Given the description of an element on the screen output the (x, y) to click on. 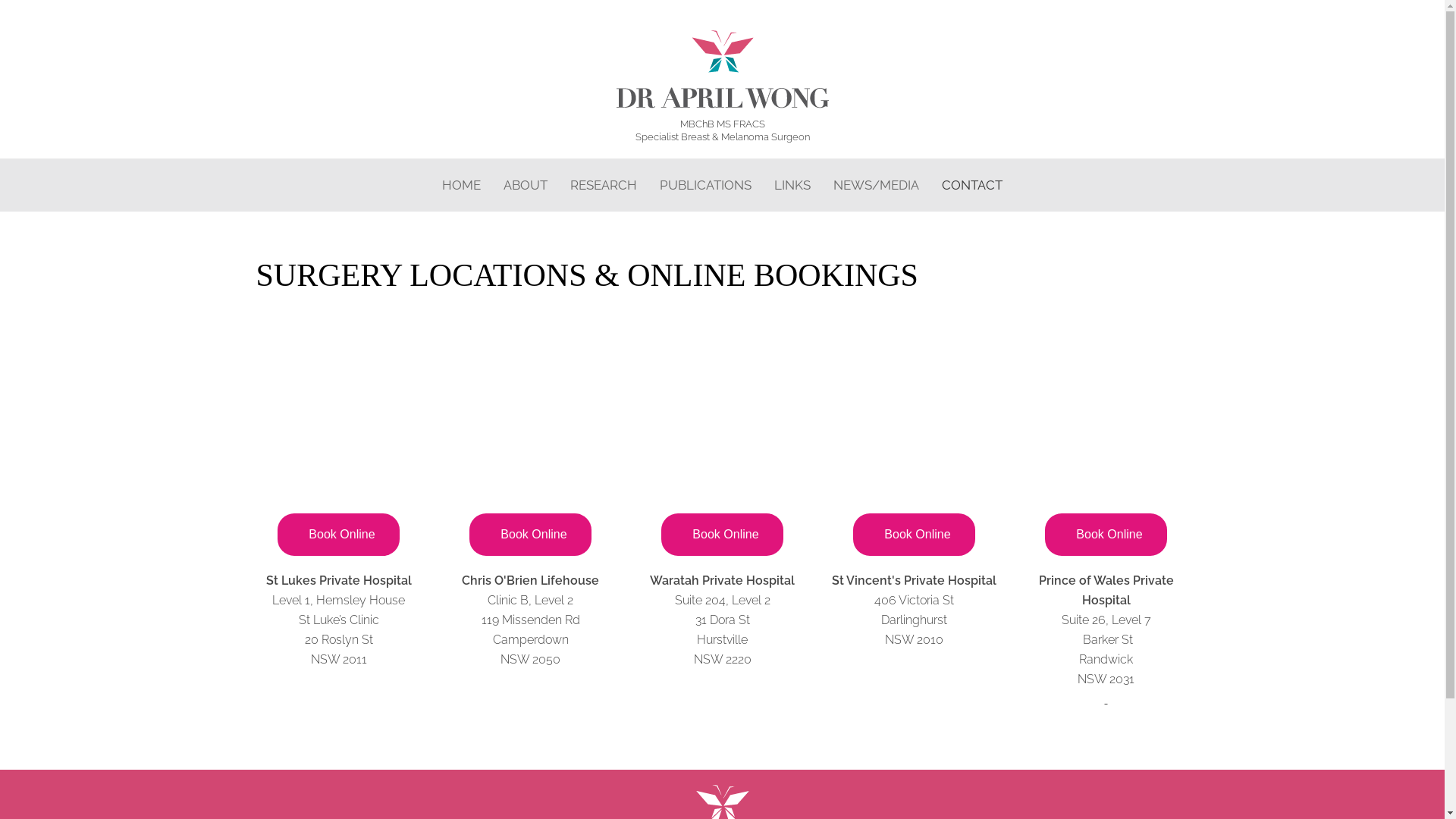
  Book Online Element type: text (721, 534)
  Book Online Element type: text (913, 534)
  Book Online Element type: text (1105, 534)
  Book Online Element type: text (529, 534)
ABOUT Element type: text (525, 184)
MBChB MS FRACS
Specialist Breast & Melanoma Surgeon Element type: text (722, 104)
NEWS/MEDIA Element type: text (876, 184)
PUBLICATIONS Element type: text (705, 184)
  Book Online Element type: text (337, 534)
HOME Element type: text (461, 184)
RESEARCH Element type: text (603, 184)
CONTACT Element type: text (971, 184)
LINKS Element type: text (792, 184)
